Given the description of an element on the screen output the (x, y) to click on. 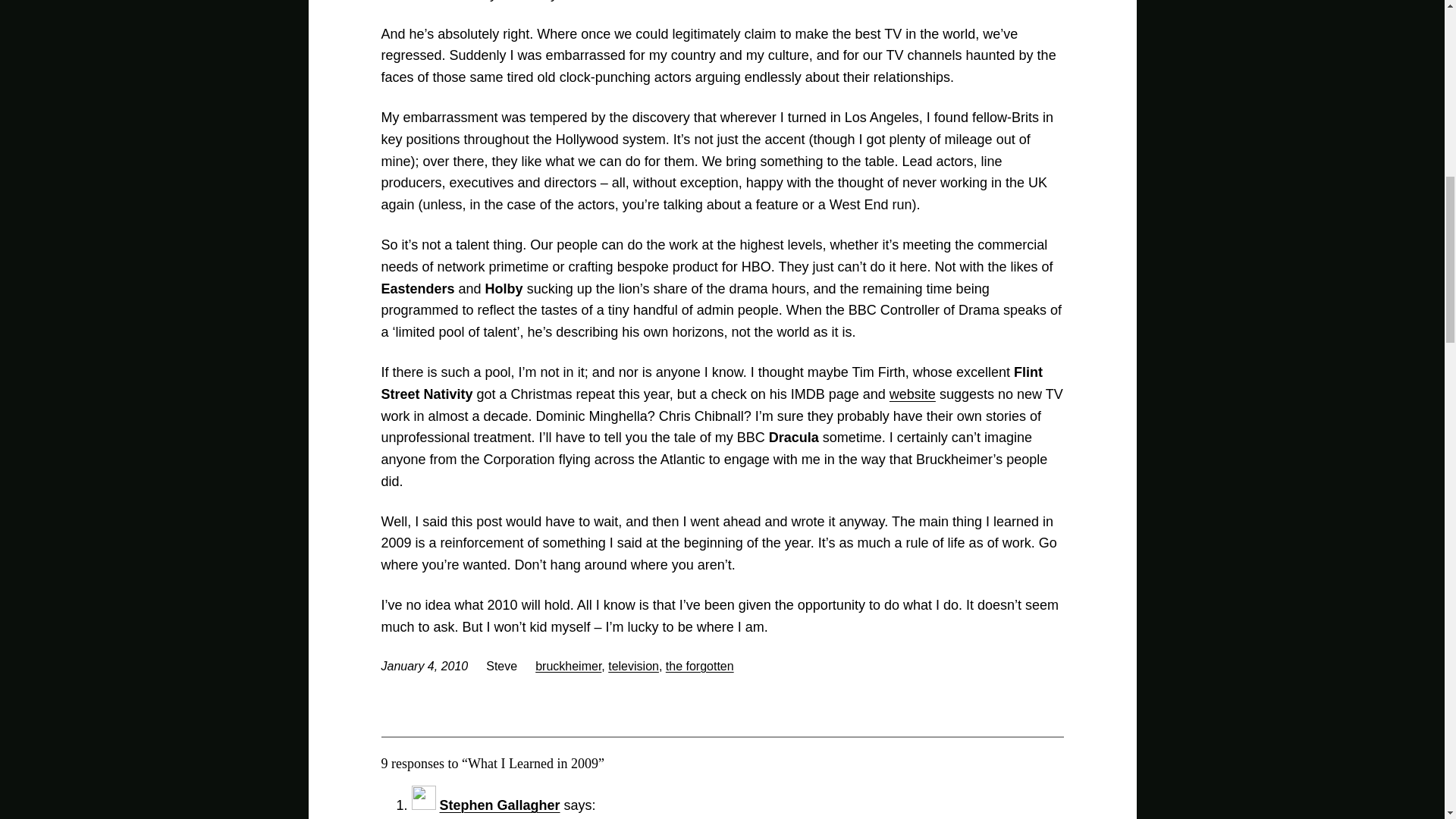
bruckheimer (568, 666)
television (633, 666)
Stephen Gallagher (499, 805)
the forgotten (699, 666)
website (912, 394)
